Given the description of an element on the screen output the (x, y) to click on. 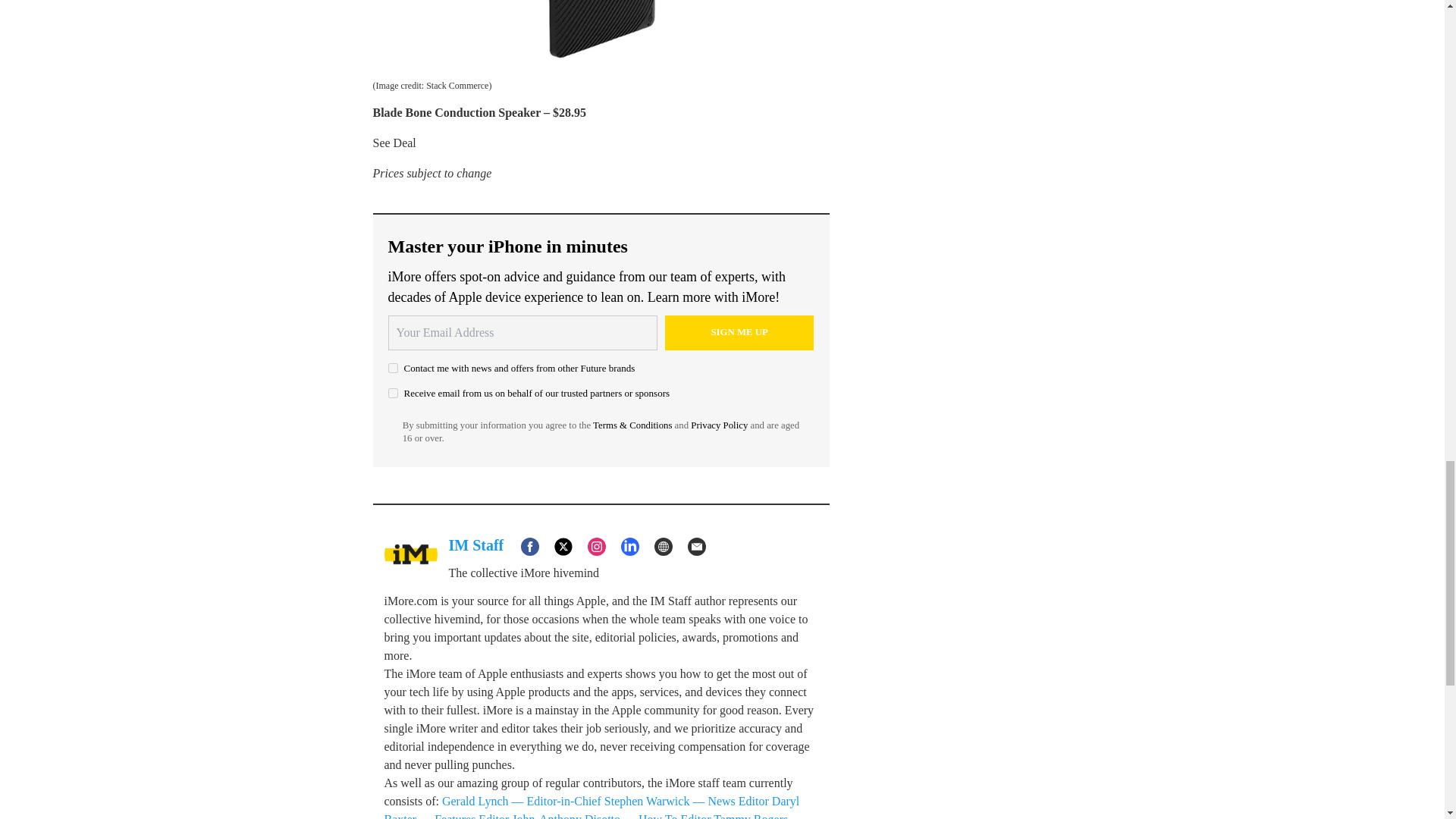
on (392, 368)
on (392, 393)
Sign me up (739, 332)
